Given the description of an element on the screen output the (x, y) to click on. 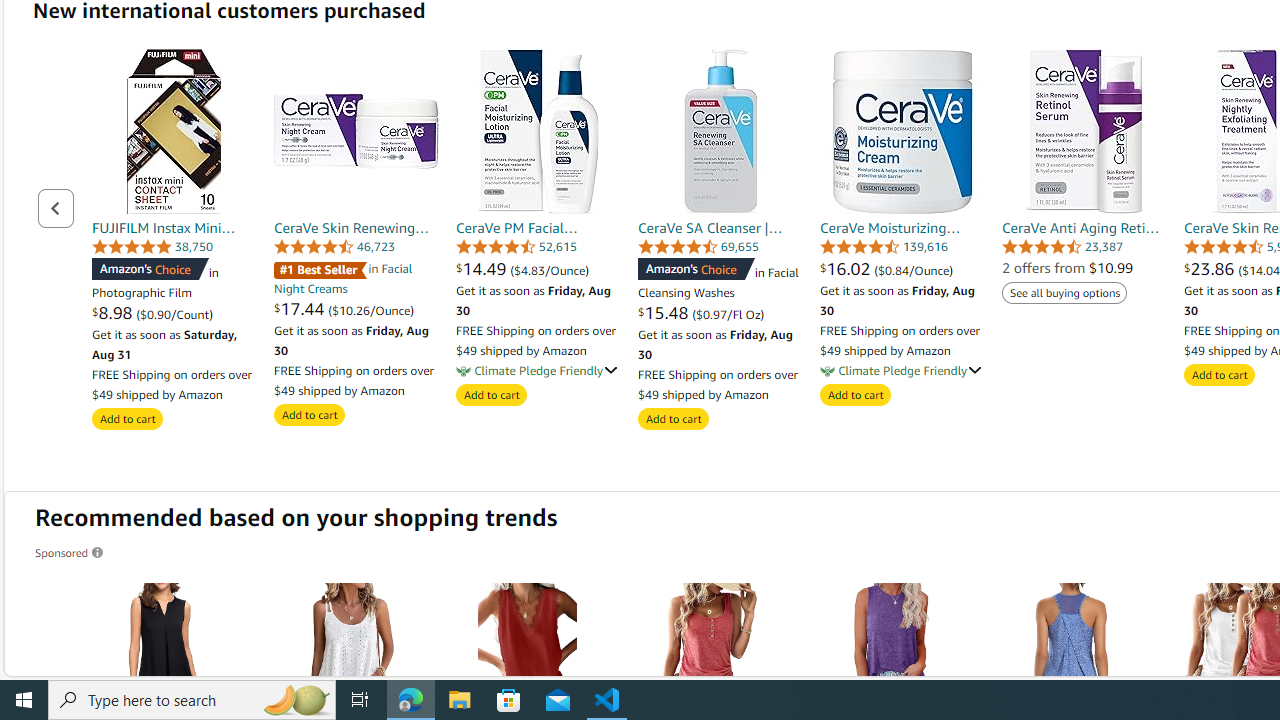
Climate Pledge Friendly (827, 370)
($0.97/Fl Oz) (728, 314)
$8.98  (114, 312)
($0.90/Count) (173, 314)
$15.48  (664, 312)
